Given the description of an element on the screen output the (x, y) to click on. 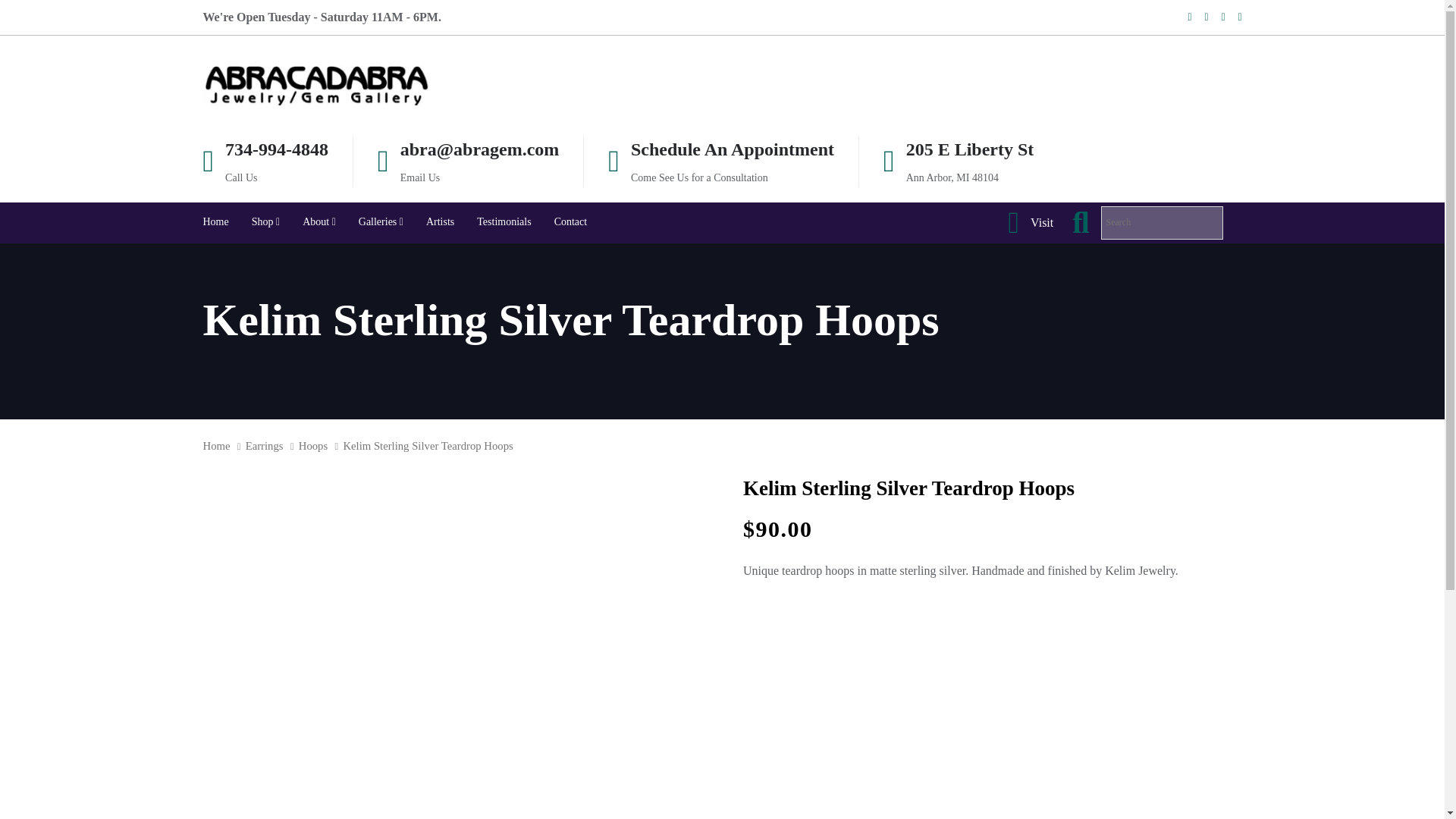
Call Us (241, 176)
Shop (265, 222)
Ann Arbor, MI 48104 (951, 176)
About (319, 222)
Home (215, 222)
Email Us (420, 176)
Come See Us for a Consultation (699, 176)
